Given the description of an element on the screen output the (x, y) to click on. 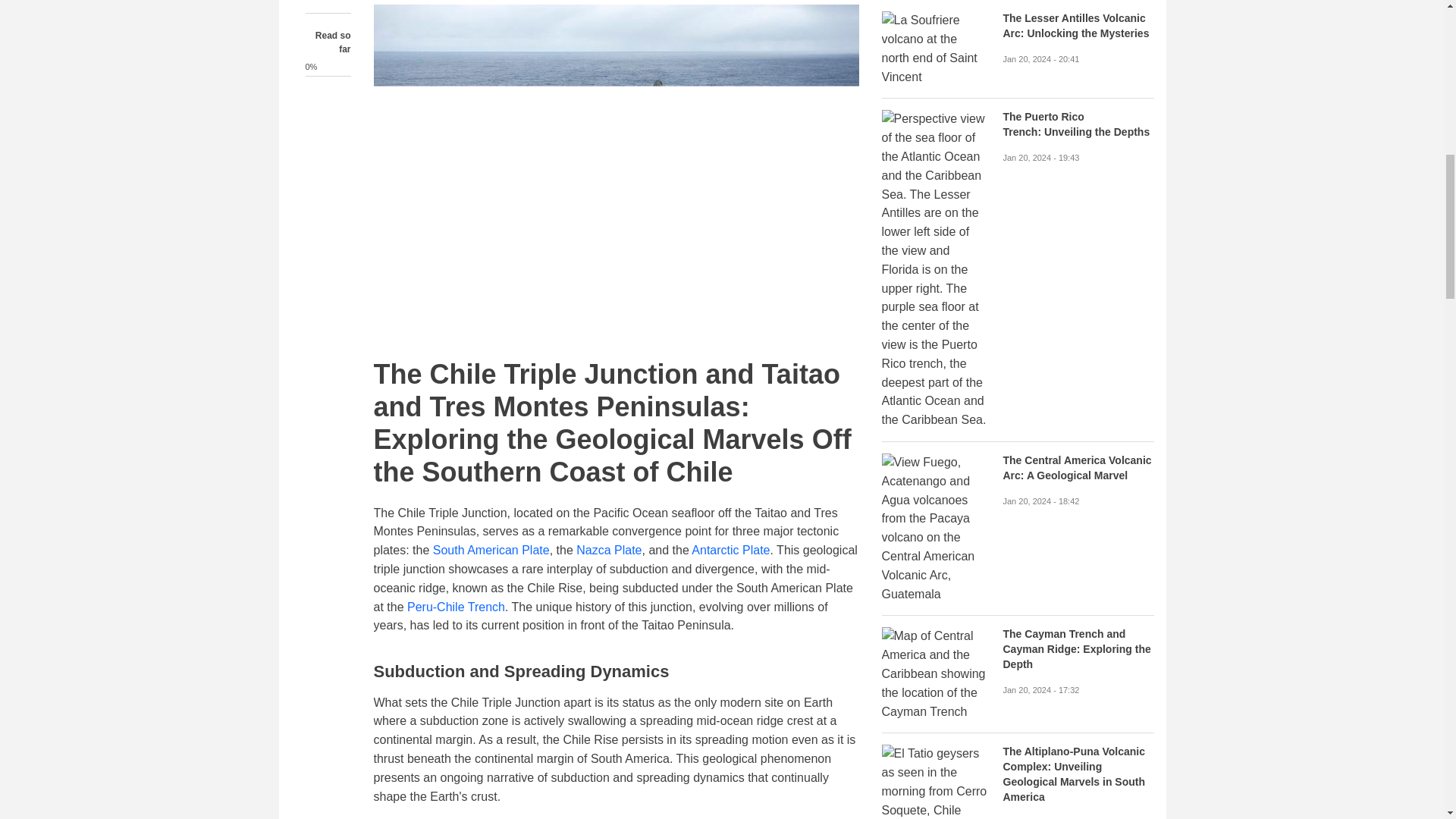
Antarctic Plate (730, 549)
Nazca Plate (609, 549)
South American Plate (491, 549)
Peru-Chile Trench (456, 606)
